Given the description of an element on the screen output the (x, y) to click on. 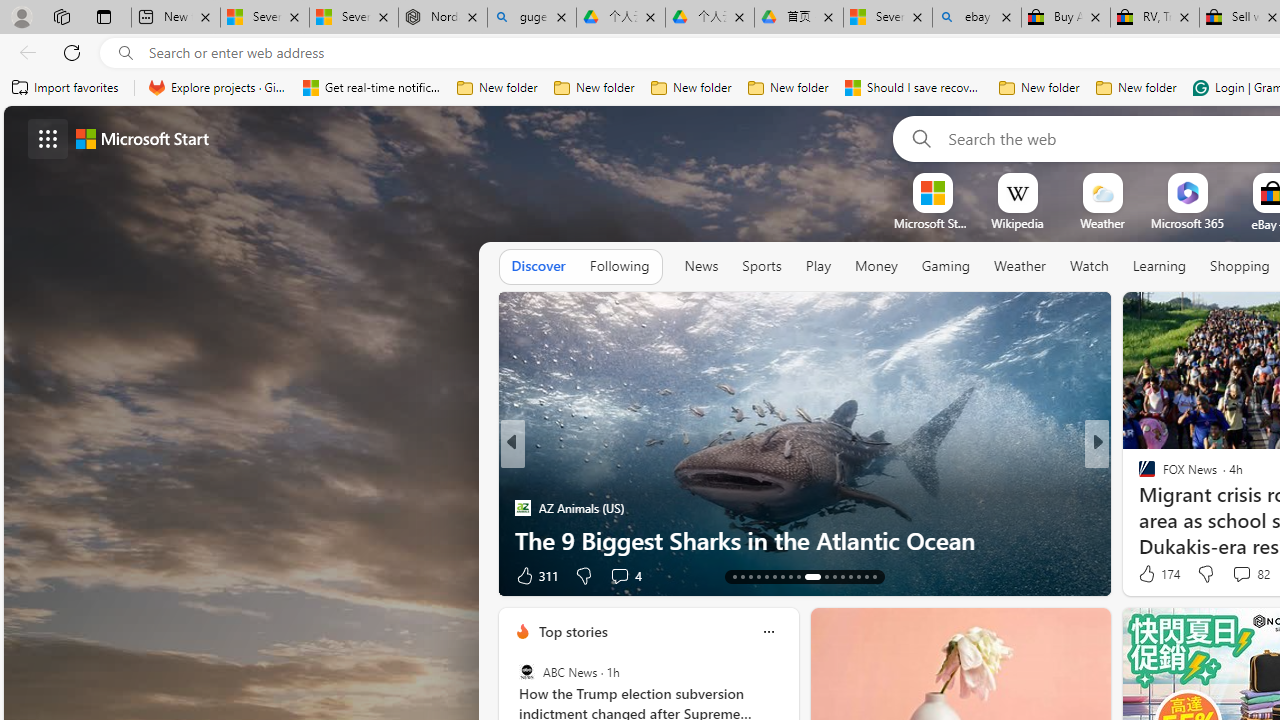
AutomationID: tab-28 (865, 576)
Import favorites (65, 88)
Microsoft Start Sports (932, 223)
Forge of Empires (1175, 507)
Class: icon-img (768, 632)
AutomationID: tab-18 (774, 576)
RV, Trailer & Camper Steps & Ladders for sale | eBay (1155, 17)
View comments 10 Comment (1237, 574)
Microsoft start (142, 138)
Gaming (945, 265)
View comments 19 Comment (1237, 574)
AutomationID: tab-14 (742, 576)
View comments 88 Comment (11, 575)
